Given the description of an element on the screen output the (x, y) to click on. 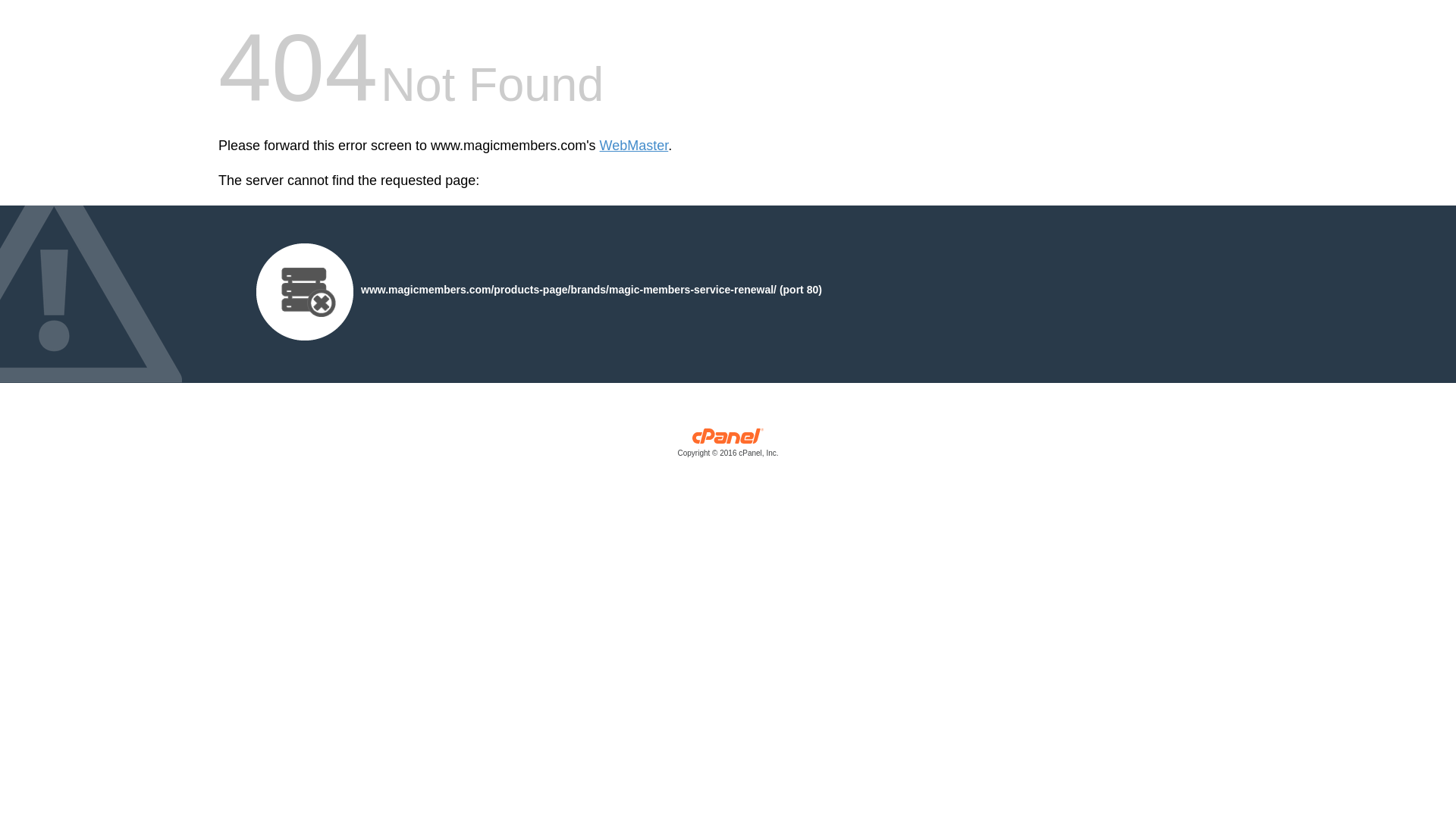
WebMaster (633, 145)
cPanel, Inc. (727, 446)
